Given the description of an element on the screen output the (x, y) to click on. 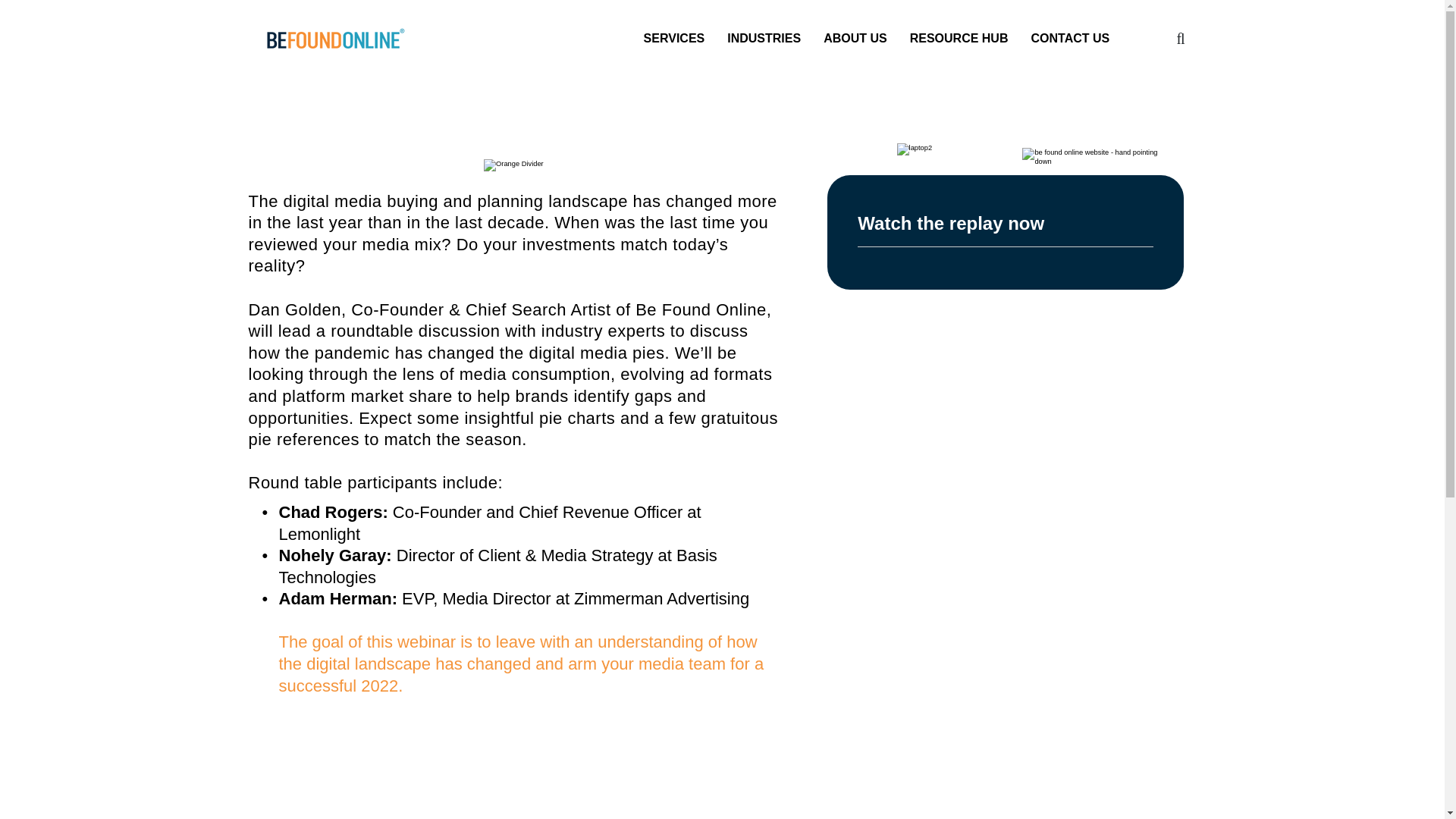
Orange Divider (513, 164)
ABOUT US (855, 38)
laptop2 (914, 149)
SERVICES (673, 38)
INDUSTRIES (764, 38)
be found online website - hand pointing down (1097, 157)
